Given the description of an element on the screen output the (x, y) to click on. 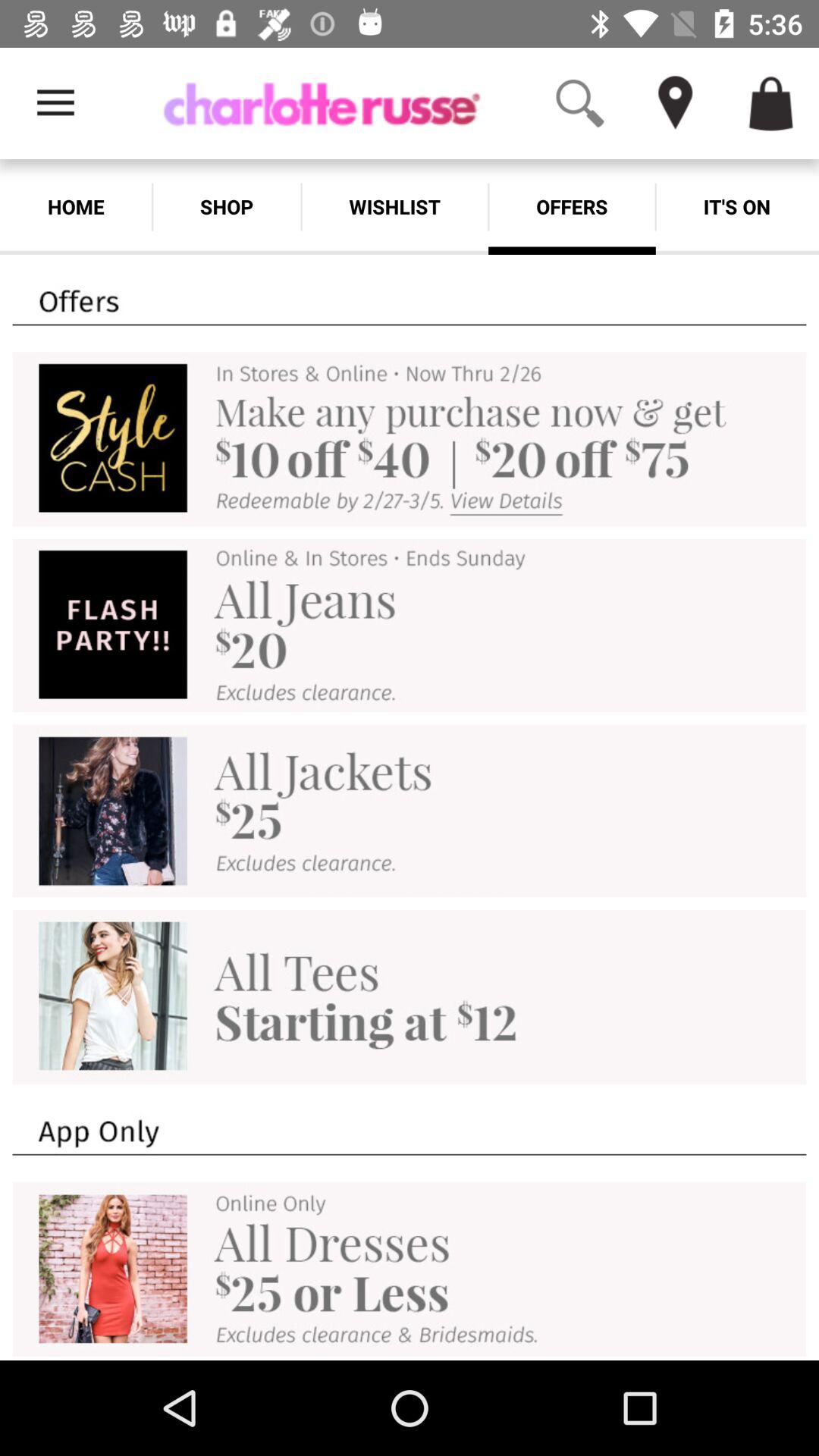
open item above the home item (55, 103)
